Given the description of an element on the screen output the (x, y) to click on. 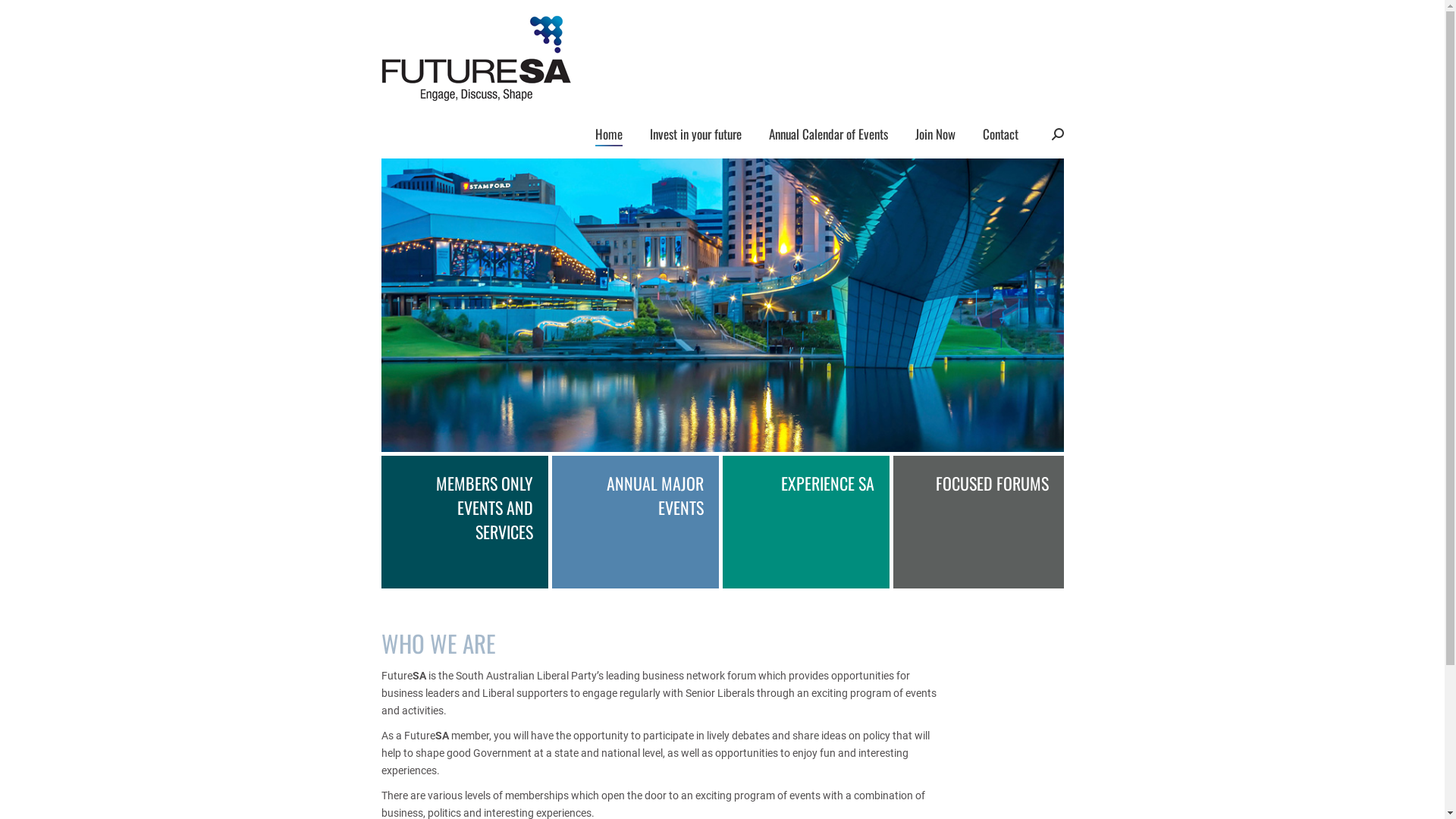
EXPERIENCE SA Element type: text (806, 521)
FOCUSED FORUMS Element type: text (978, 521)
Join Now Element type: text (934, 133)
Go! Element type: text (24, 16)
Annual Calendar of Events Element type: text (828, 133)
ANNUAL MAJOR EVENTS Element type: text (637, 521)
Home Element type: text (607, 133)
Invest in your future Element type: text (694, 133)
MEMBERS ONLY EVENTS AND SERVICES Element type: text (465, 521)
Contact Element type: text (1000, 133)
